Given the description of an element on the screen output the (x, y) to click on. 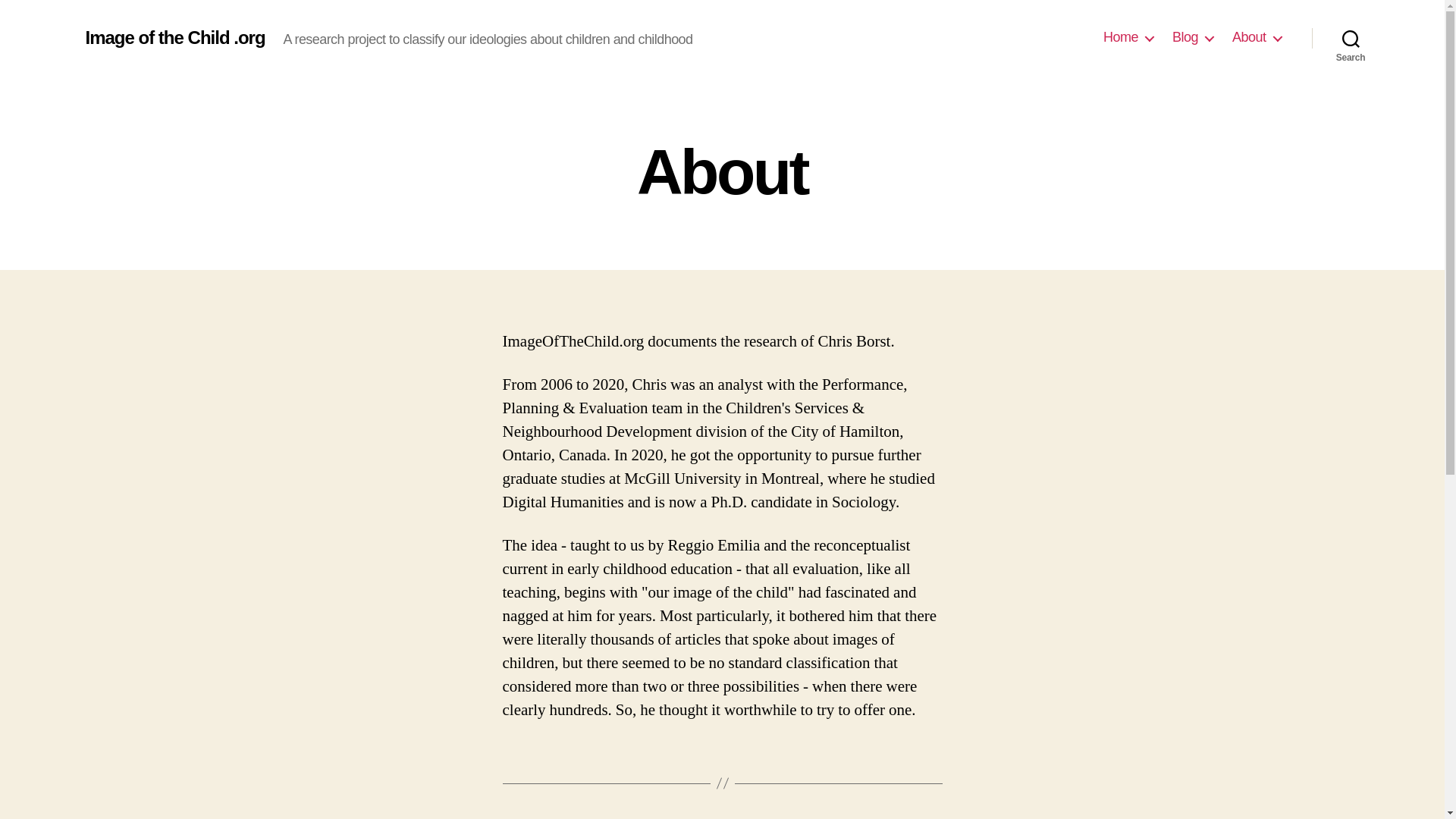
About (1256, 37)
Blog (1192, 37)
Search (1350, 37)
Home (1128, 37)
Image of the Child .org (174, 37)
